Given the description of an element on the screen output the (x, y) to click on. 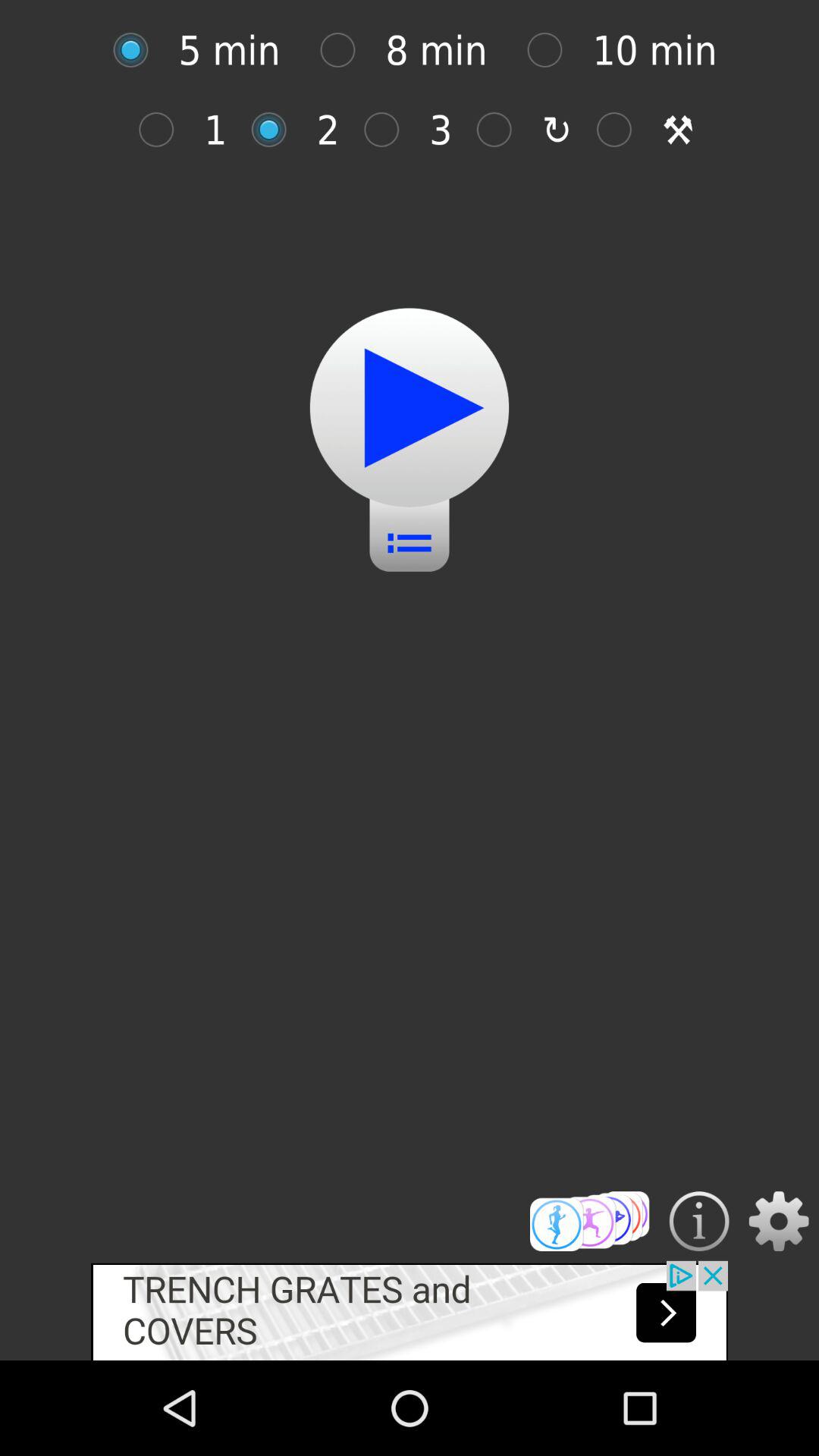
use setting 1 (164, 129)
